Given the description of an element on the screen output the (x, y) to click on. 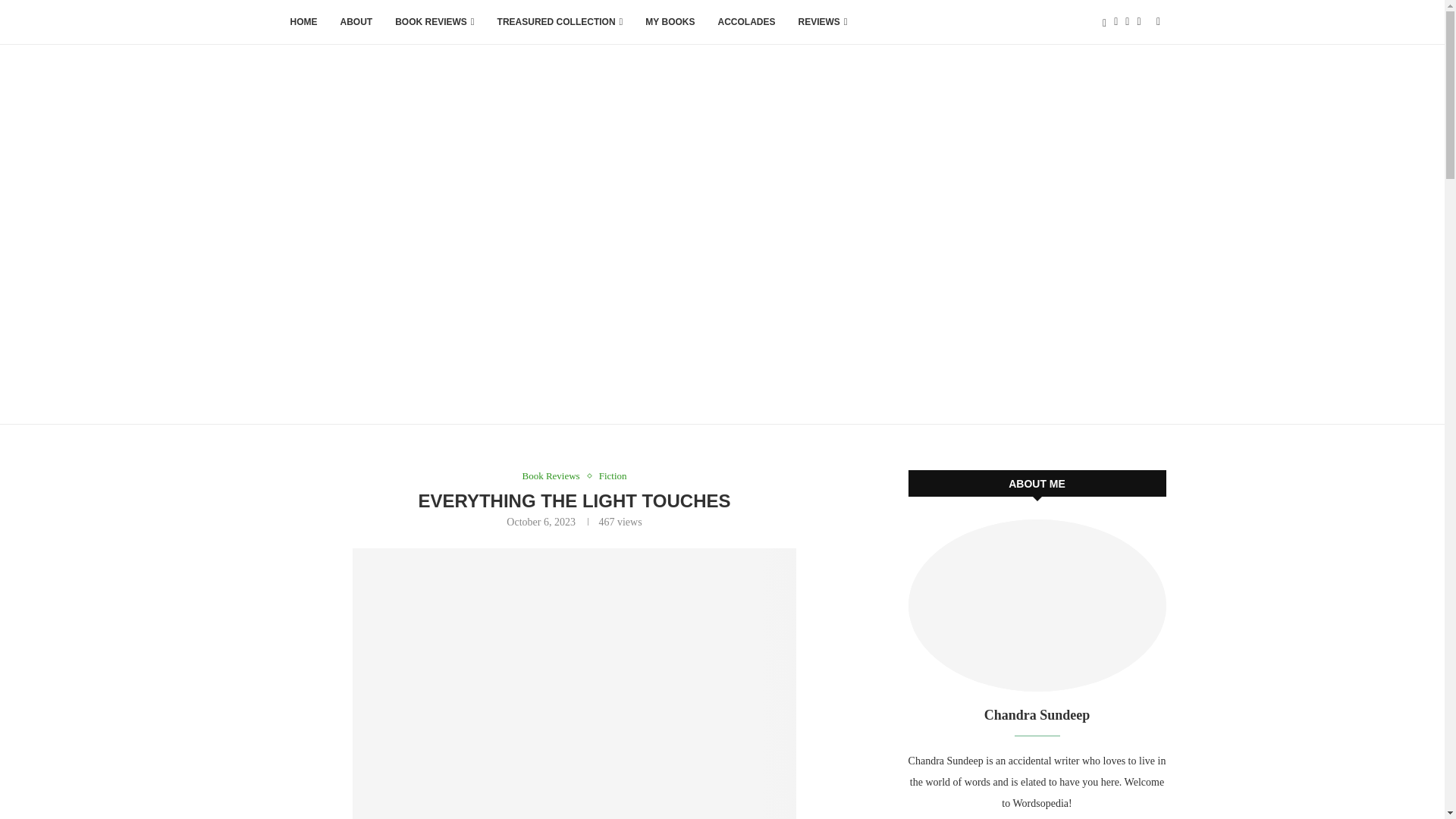
ACCOLADES (746, 22)
Fiction (612, 476)
MY BOOKS (669, 22)
TREASURED COLLECTION (560, 22)
BOOK REVIEWS (434, 22)
HOME (304, 22)
Book Reviews (553, 476)
ABOUT (356, 22)
REVIEWS (823, 22)
